Given the description of an element on the screen output the (x, y) to click on. 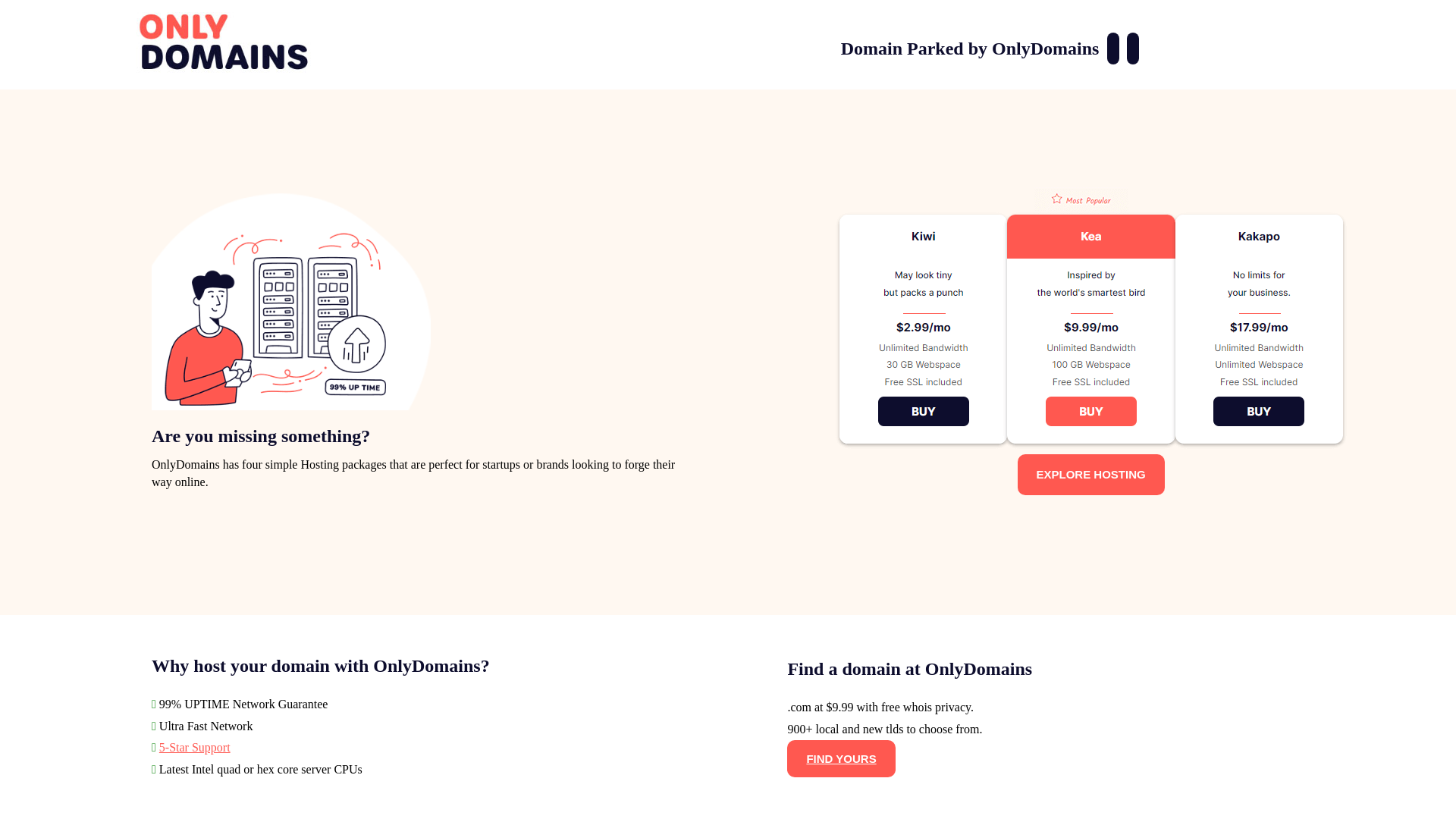
5-Star Support Element type: text (194, 746)
OnlyDomains Twitter Element type: hover (1132, 48)
FIND YOURS Element type: text (840, 758)
EXPLORE HOSTING Element type: text (1090, 474)
OnlyDomains Facebook Element type: hover (1113, 48)
